Given the description of an element on the screen output the (x, y) to click on. 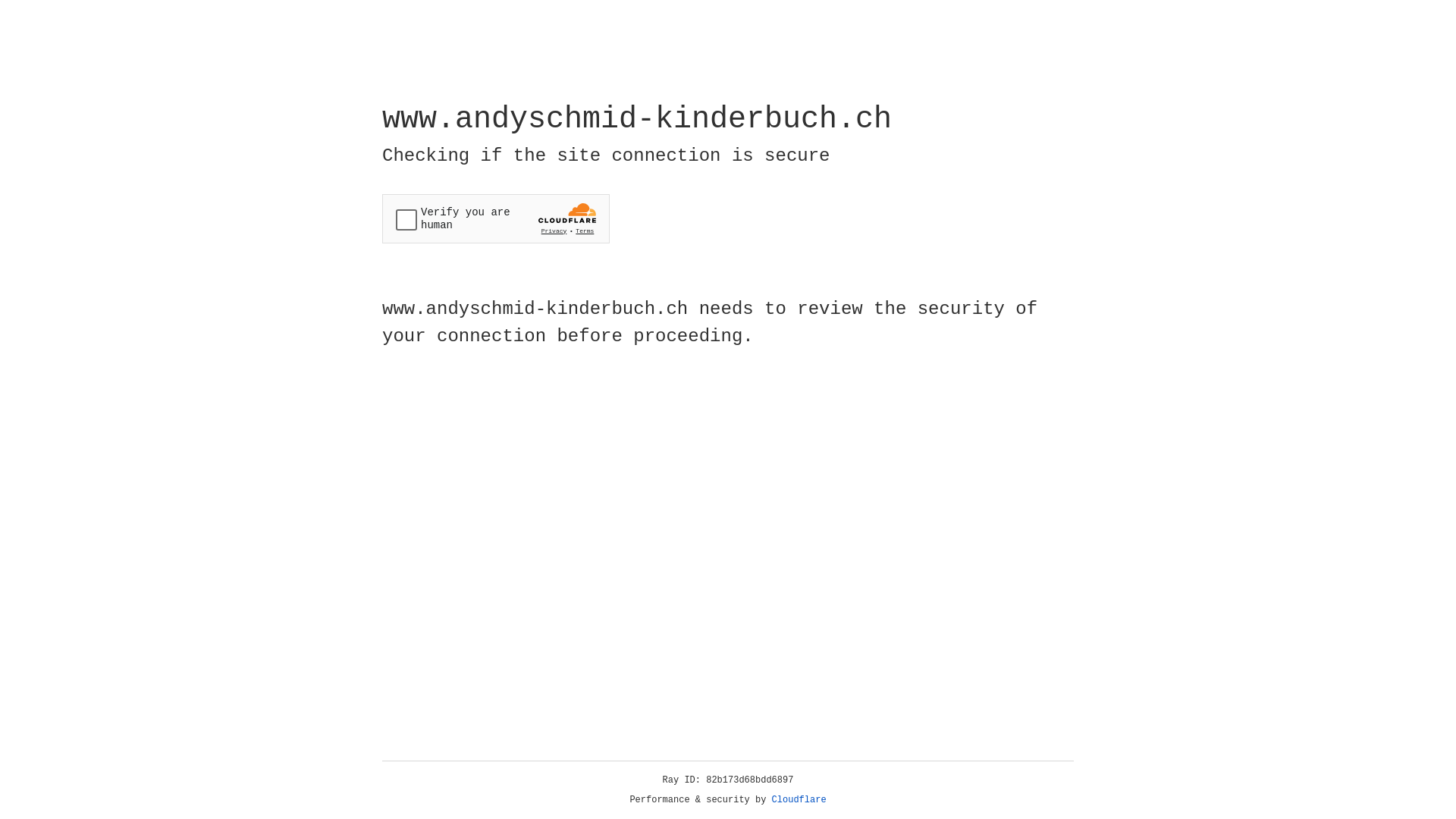
Cloudflare Element type: text (798, 799)
Widget containing a Cloudflare security challenge Element type: hover (495, 218)
